Given the description of an element on the screen output the (x, y) to click on. 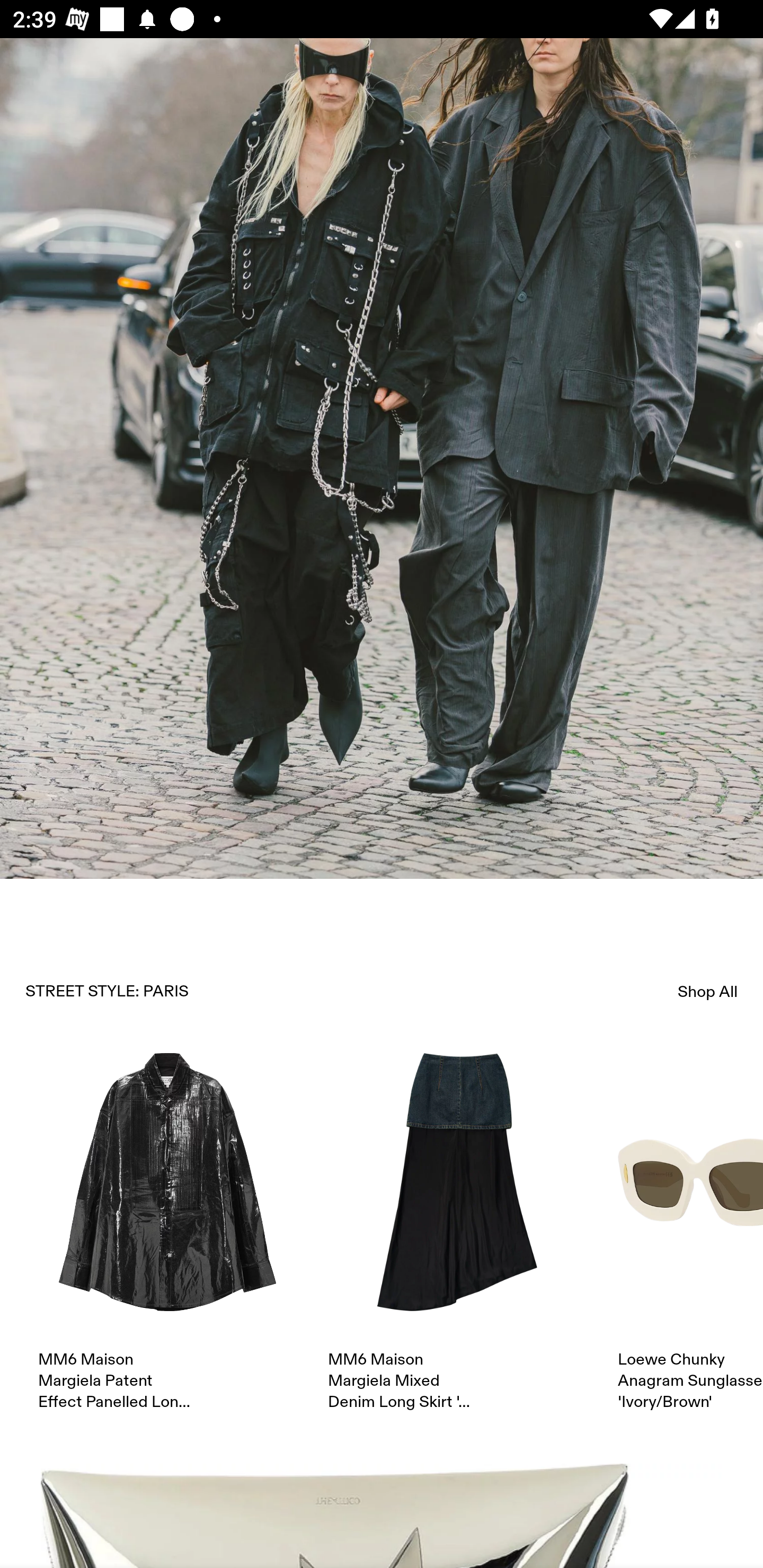
Shop All (707, 991)
MM6 Maison Margiela Mixed Denim Long Skirt 'Blue' (456, 1232)
Loewe Chunky Anagram Sunglasses 'Ivory/Brown' (690, 1232)
